Given the description of an element on the screen output the (x, y) to click on. 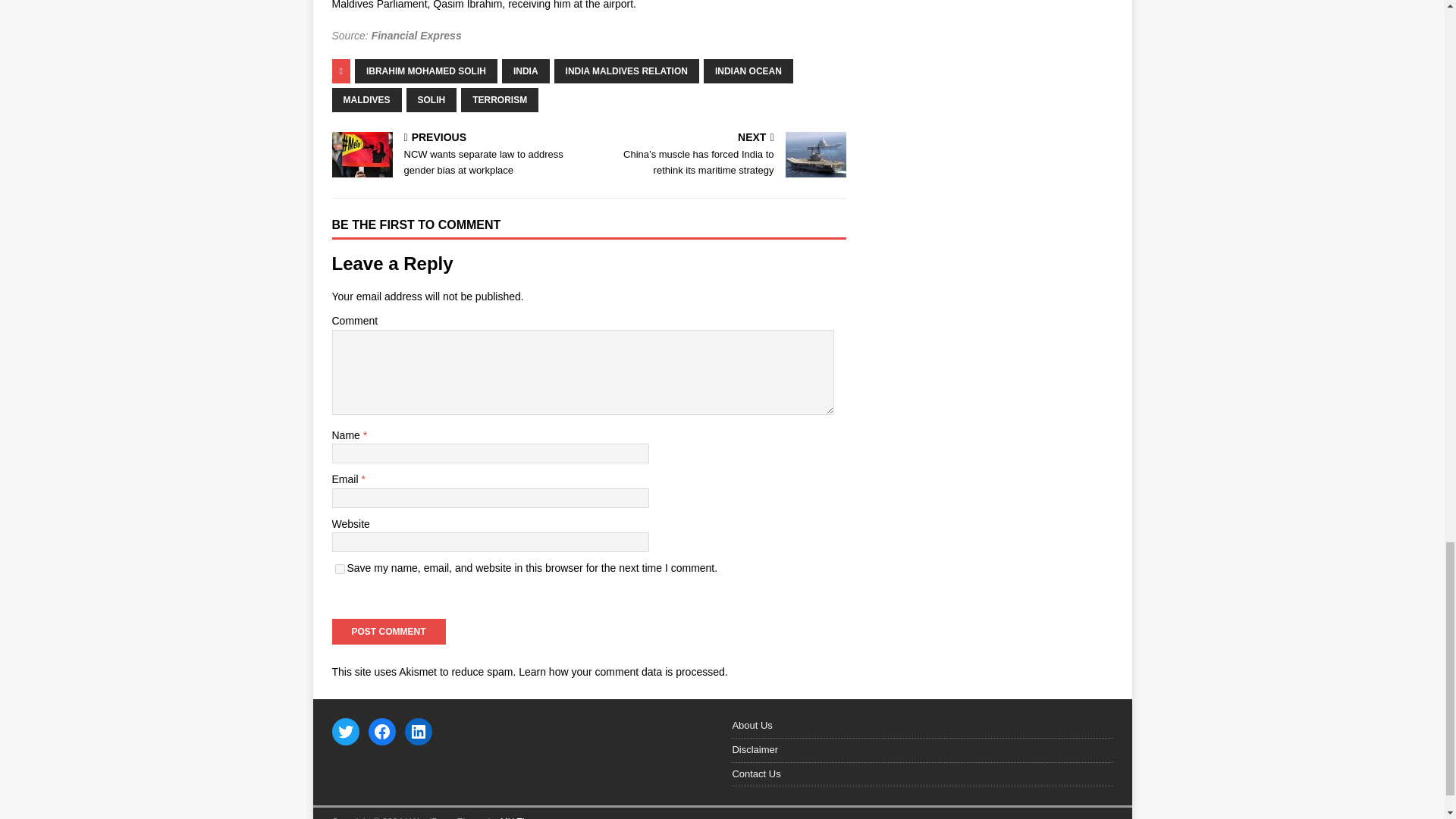
Post Comment (388, 631)
Financial Express (416, 35)
INDIA (526, 70)
IBRAHIM MOHAMED SOLIH (426, 70)
yes (339, 569)
